Given the description of an element on the screen output the (x, y) to click on. 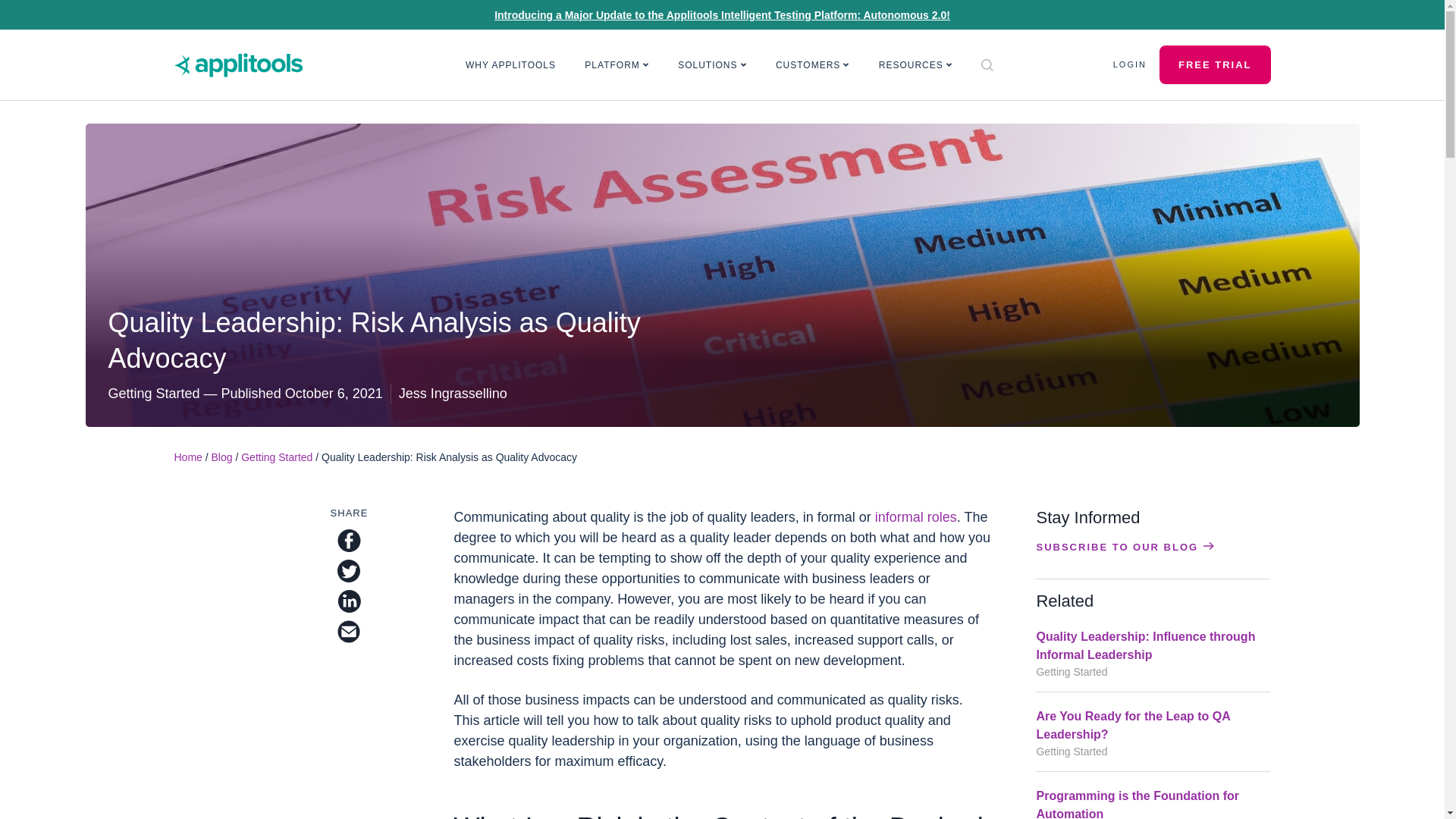
PLATFORM (616, 65)
SOLUTIONS (712, 65)
Applitools (238, 64)
WHY APPLITOOLS (510, 65)
